Given the description of an element on the screen output the (x, y) to click on. 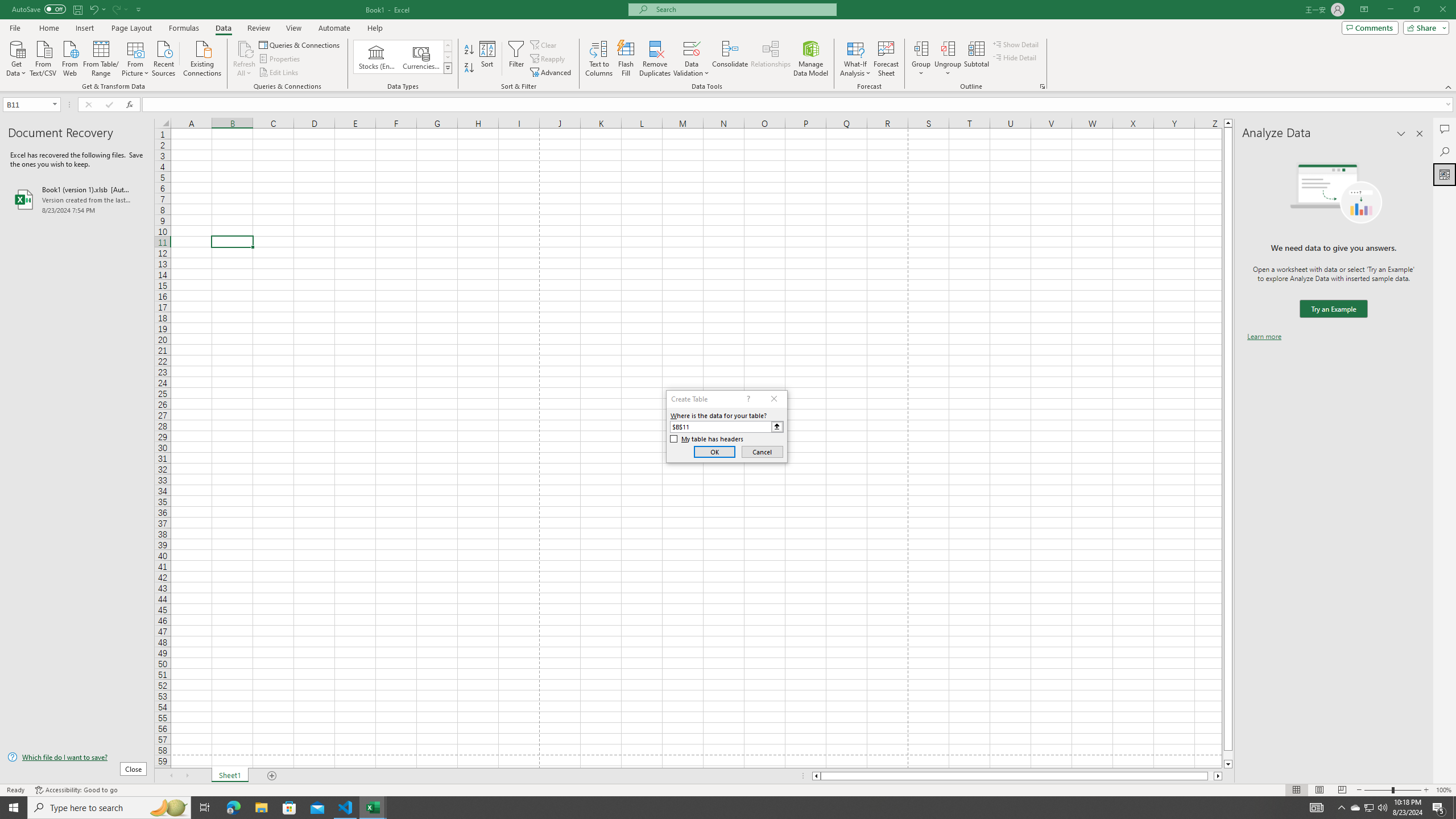
File Tab (15, 27)
Properties (280, 58)
Show Detail (1016, 44)
Comments (1444, 128)
Comments (1369, 27)
Microsoft search (742, 9)
Data Validation... (691, 58)
Zoom Out (1377, 790)
Existing Connections (202, 57)
Class: NetUIScrollBar (1016, 775)
Consolidate... (729, 58)
Remove Duplicates (654, 58)
Normal (1296, 790)
From Picture (135, 57)
Formulas (184, 28)
